Given the description of an element on the screen output the (x, y) to click on. 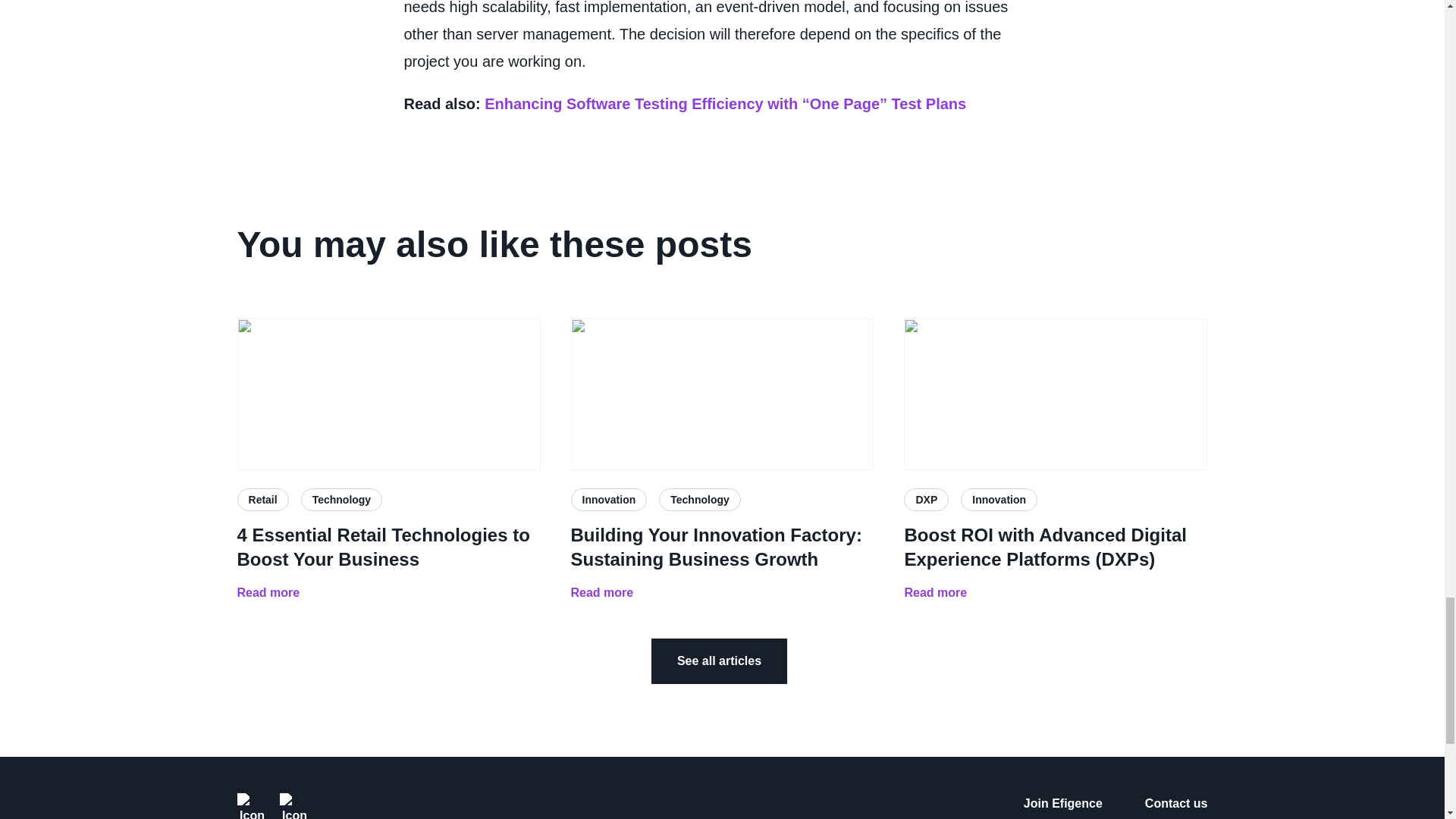
Technology (700, 499)
Technology (341, 499)
Retail (262, 499)
Building Your Innovation Factory: Sustaining Business Growth (721, 547)
See all articles (718, 660)
Retail (262, 499)
Innovation (608, 499)
Technology (700, 499)
Innovation (998, 499)
Innovation (608, 499)
